Given the description of an element on the screen output the (x, y) to click on. 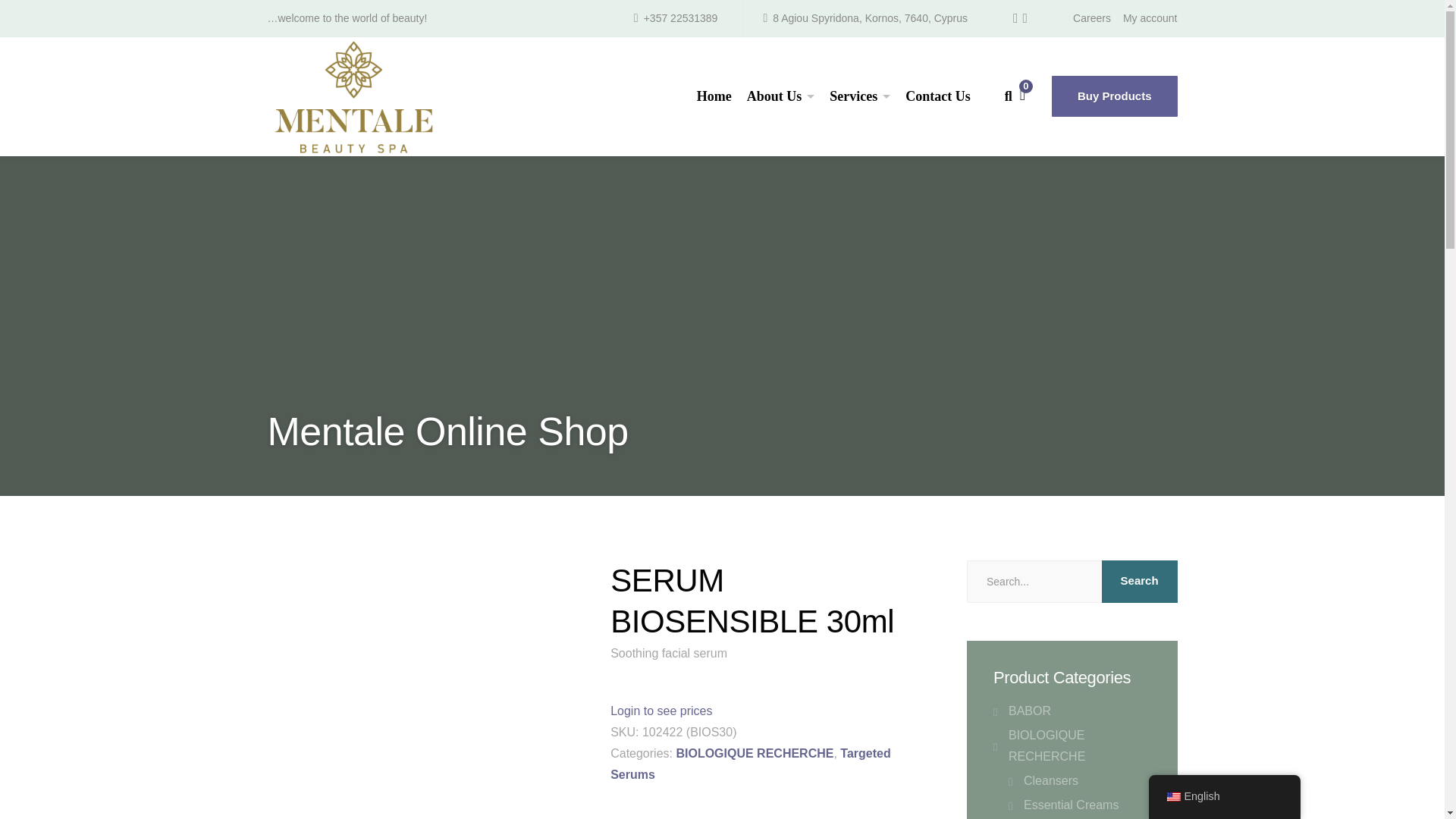
Search (1085, 438)
English (1172, 796)
Buy Products (1114, 96)
Mentale Beauty Spa (352, 95)
Careers (1091, 18)
My account (1149, 18)
